Given the description of an element on the screen output the (x, y) to click on. 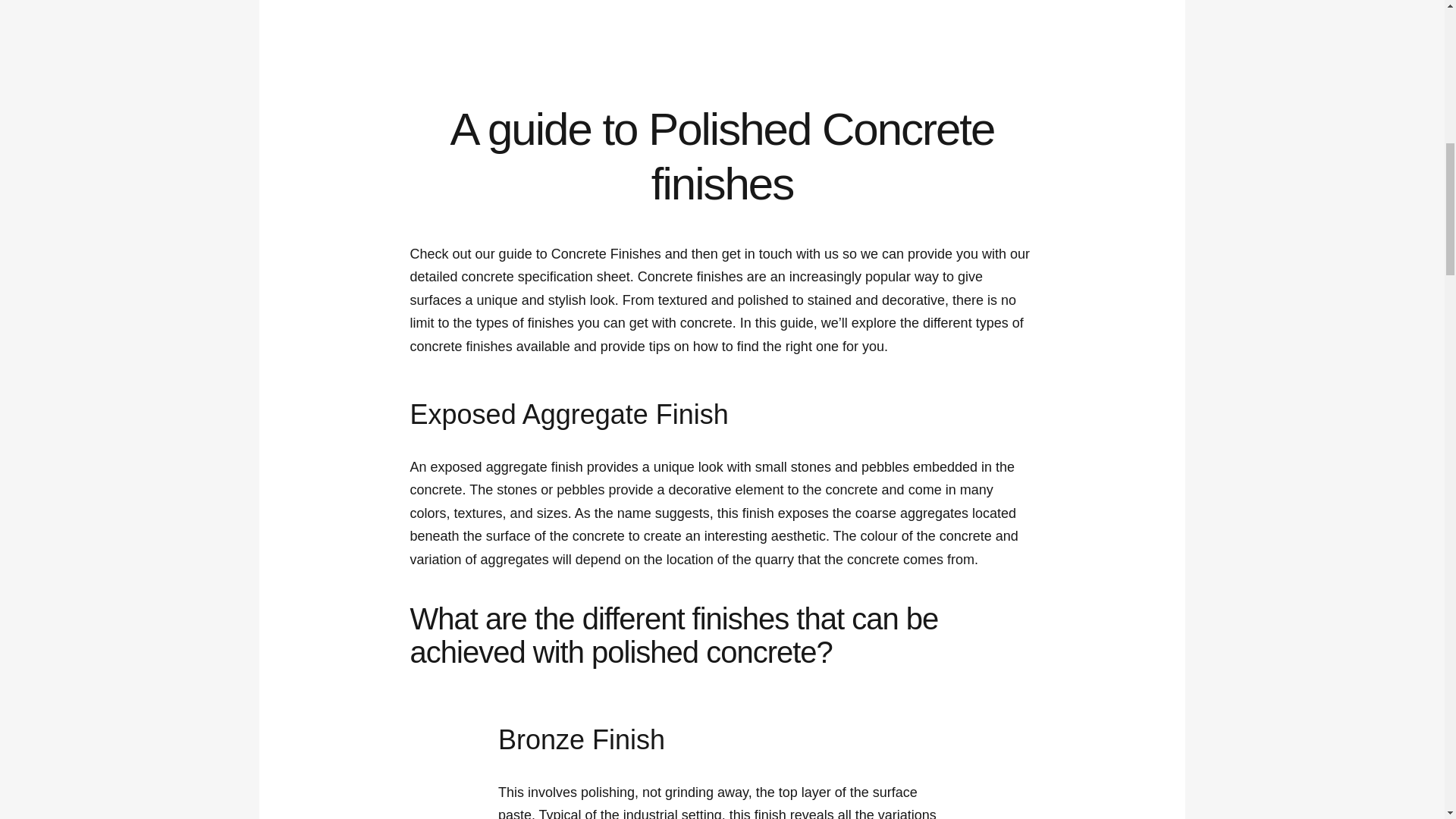
Concrete finishes landscape (722, 5)
